Given the description of an element on the screen output the (x, y) to click on. 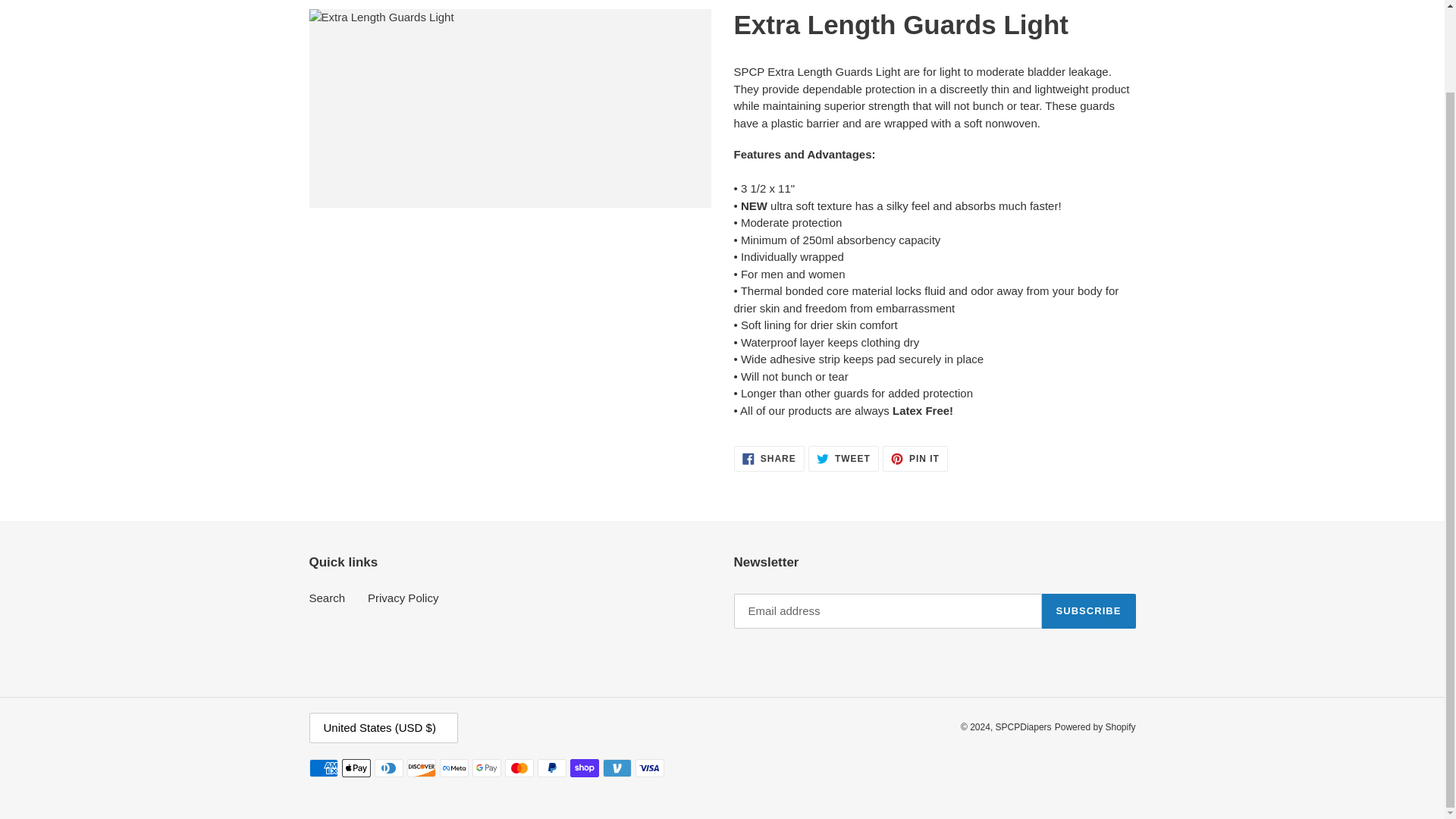
Search (327, 597)
Privacy Policy (403, 597)
SUBSCRIBE (1088, 610)
